Given the description of an element on the screen output the (x, y) to click on. 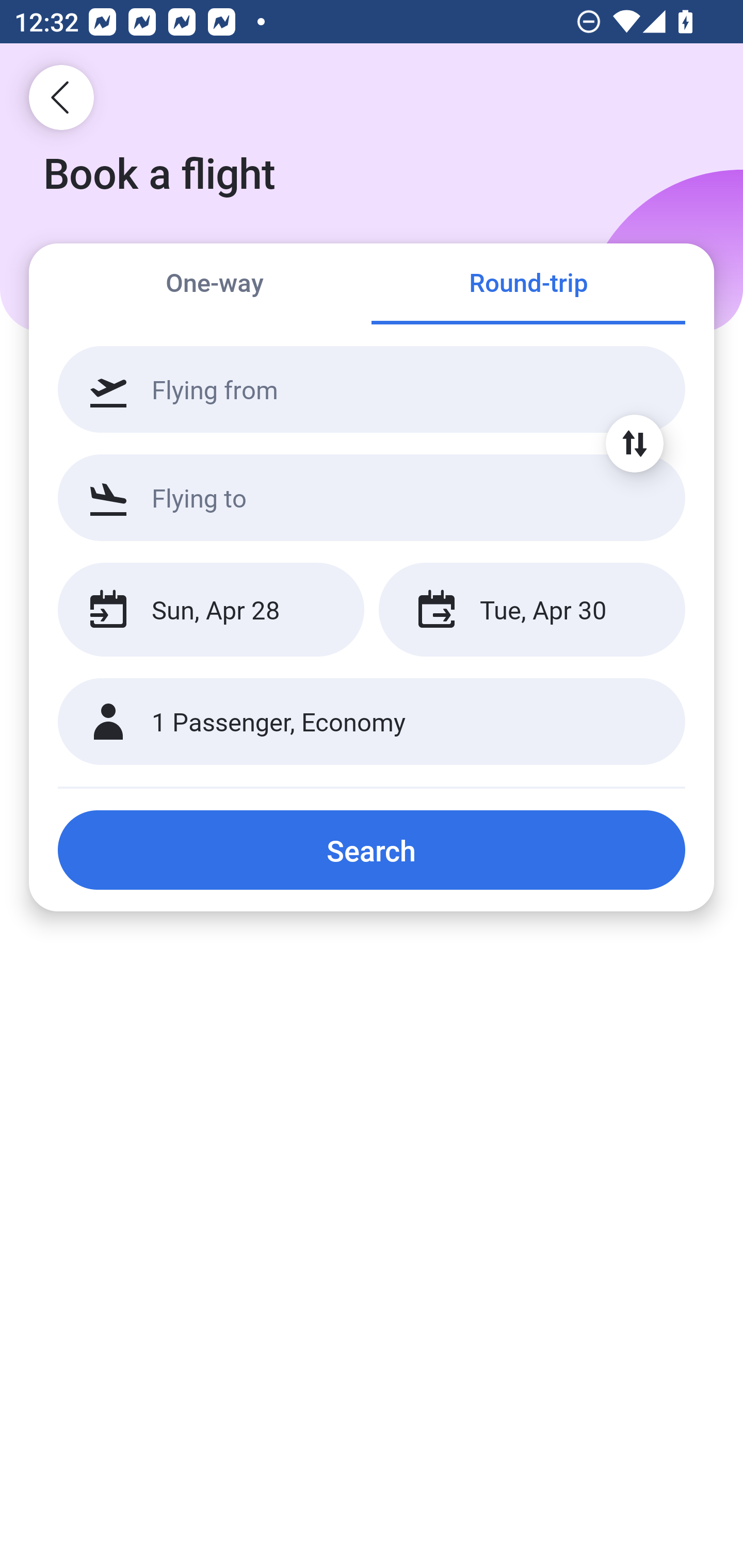
One-way (214, 284)
Flying from (371, 389)
Flying to (371, 497)
Sun, Apr 28 (210, 609)
Tue, Apr 30 (531, 609)
1 Passenger, Economy (371, 721)
Search (371, 849)
